Given the description of an element on the screen output the (x, y) to click on. 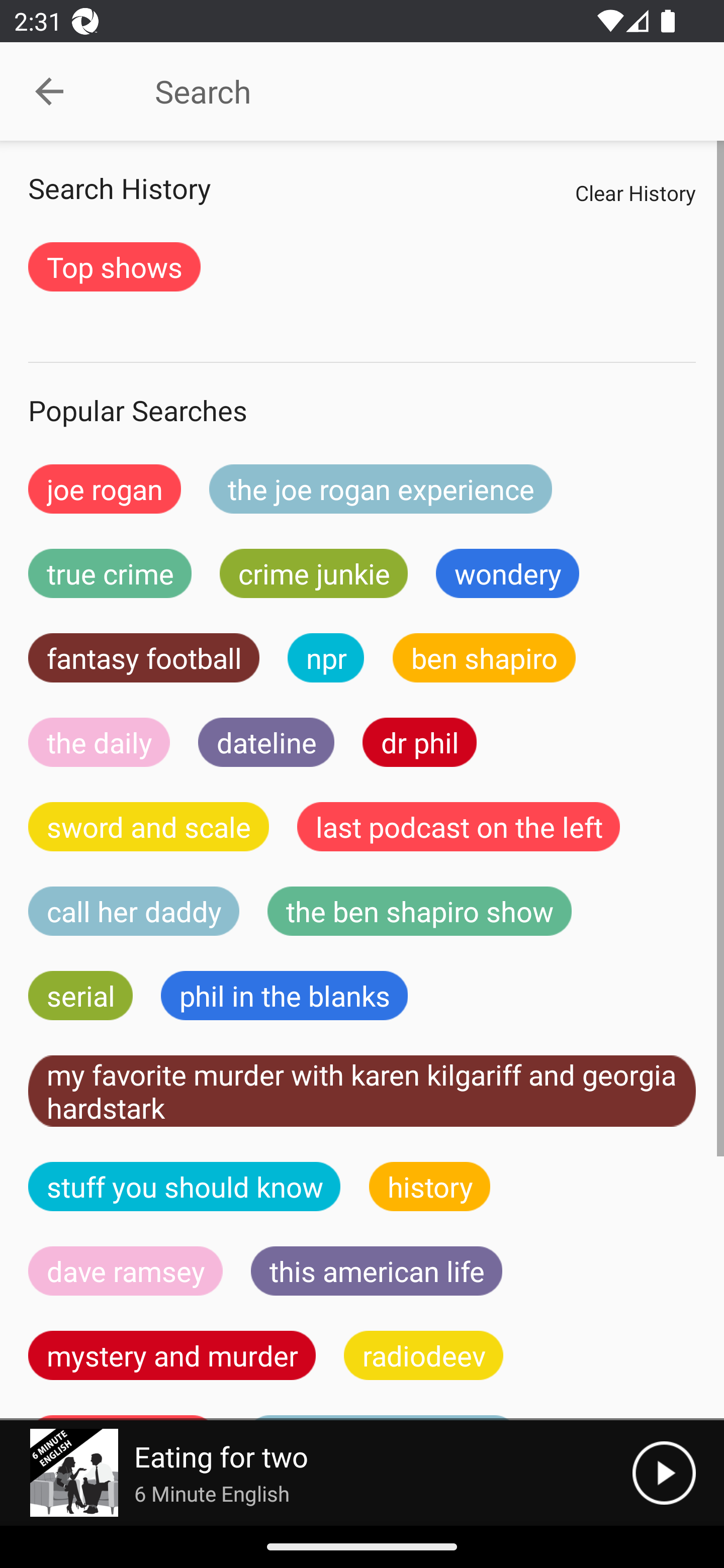
Collapse (49, 91)
Search (407, 91)
Clear History (634, 192)
Top shows (114, 266)
joe rogan (104, 489)
the joe rogan experience (380, 489)
true crime (109, 572)
crime junkie (313, 572)
wondery (507, 572)
fantasy football (143, 657)
npr (325, 657)
ben shapiro (483, 657)
the daily (99, 742)
dateline (266, 742)
dr phil (419, 742)
sword and scale (148, 826)
last podcast on the left (458, 826)
call her daddy (133, 910)
the ben shapiro show (419, 910)
serial (80, 995)
phil in the blanks (283, 995)
stuff you should know (184, 1185)
history (429, 1185)
dave ramsey (125, 1270)
this american life (376, 1270)
mystery and murder (171, 1355)
radiodeev (423, 1355)
Picture Eating for two 6 Minute English (316, 1472)
Play (663, 1472)
